Given the description of an element on the screen output the (x, y) to click on. 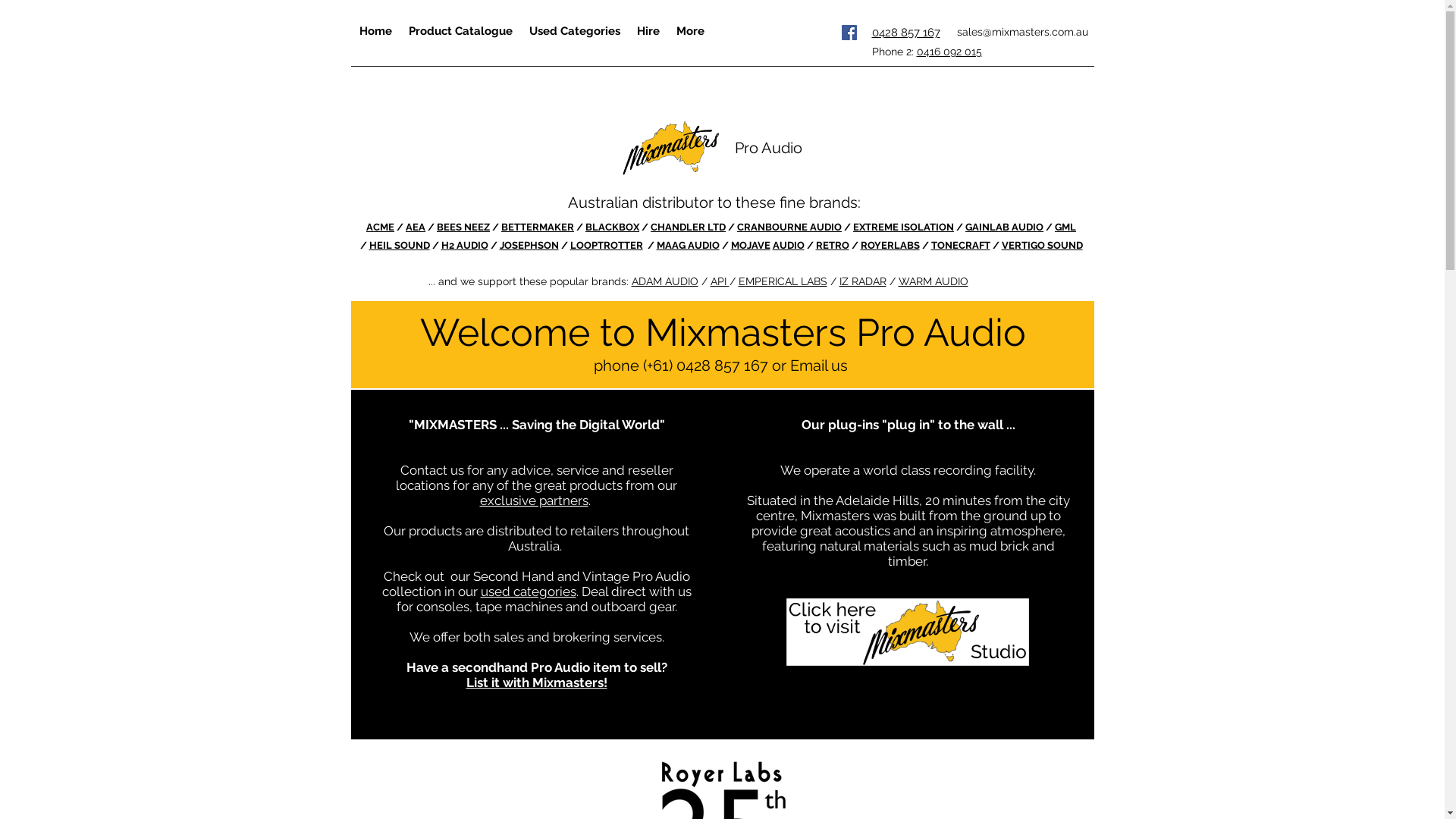
TONECRAFT Element type: text (960, 245)
EMPERICAL LABS Element type: text (782, 281)
sales@mixmasters.com.au Element type: text (1022, 31)
/  Element type: text (430, 226)
0428 857 167 Element type: text (906, 32)
Email us  Element type: text (820, 365)
HEIL SOUND /  Element type: text (404, 245)
Pro Audio Element type: text (767, 147)
AEA Element type: text (415, 226)
Used Categories Element type: text (573, 30)
ADAM AUDIO Element type: text (663, 281)
GML /  Element type: text (717, 236)
H2 AUDIO /  Element type: text (470, 245)
JOSEPHSON /  Element type: text (533, 245)
GAINLAB AUDIO Element type: text (1004, 226)
(+61) 0428 857 167 Element type: text (705, 365)
used categories Element type: text (528, 591)
exclusive partners Element type: text (533, 500)
VERTIGO SOUND Element type: text (1041, 245)
Home Element type: text (374, 30)
WARM AUDIO Element type: text (932, 281)
BLACKBOX /  Element type: text (617, 226)
EXTREME ISOLATION Element type: text (903, 226)
IZ RADAR Element type: text (861, 281)
ROYERLABS Element type: text (889, 245)
RETRO Element type: text (832, 245)
MAAG AUDIO Element type: text (687, 245)
ACME Element type: text (380, 226)
MOJAVE AUDIO Element type: text (767, 245)
LOOPTROTTER  Element type: text (607, 245)
BETTERMAKER Element type: text (537, 226)
Hire Element type: text (647, 30)
CHANDLER LTD /  Element type: text (693, 226)
BEES NEEZ Element type: text (462, 226)
/  Element type: text (399, 226)
List it with Mixmasters! Element type: text (535, 682)
API Element type: text (718, 281)
CRANBOURNE AUDIO /  Element type: text (795, 226)
